Given the description of an element on the screen output the (x, y) to click on. 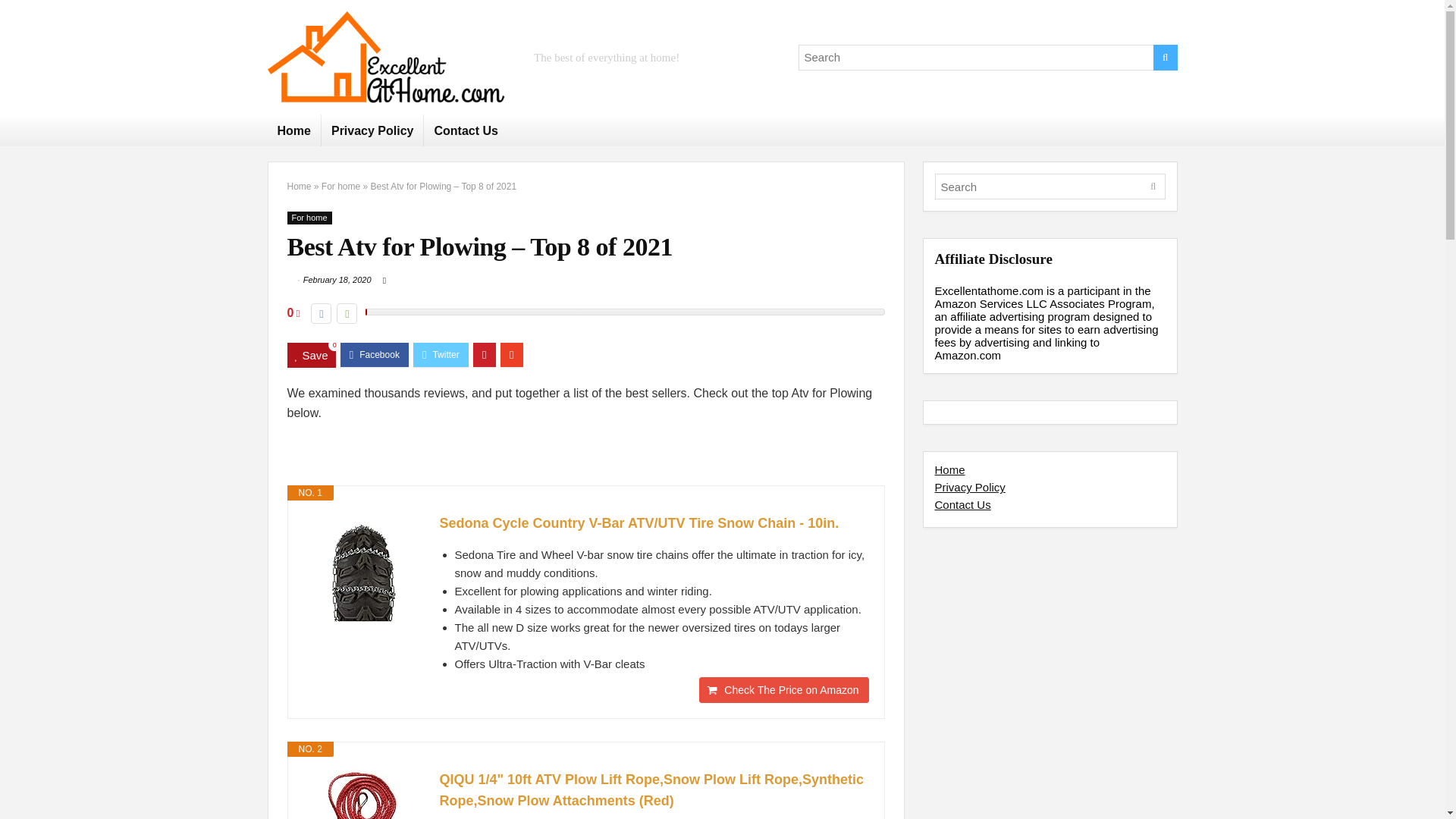
Vote up (346, 313)
Contact Us (464, 130)
View all posts in For home (308, 217)
For home (340, 185)
Check The Price on Amazon (782, 689)
Home (293, 130)
Privacy Policy (969, 486)
Check The Price on Amazon (782, 689)
Privacy Policy (372, 130)
Home (948, 469)
For home (308, 217)
Home (298, 185)
Vote down (321, 313)
